Given the description of an element on the screen output the (x, y) to click on. 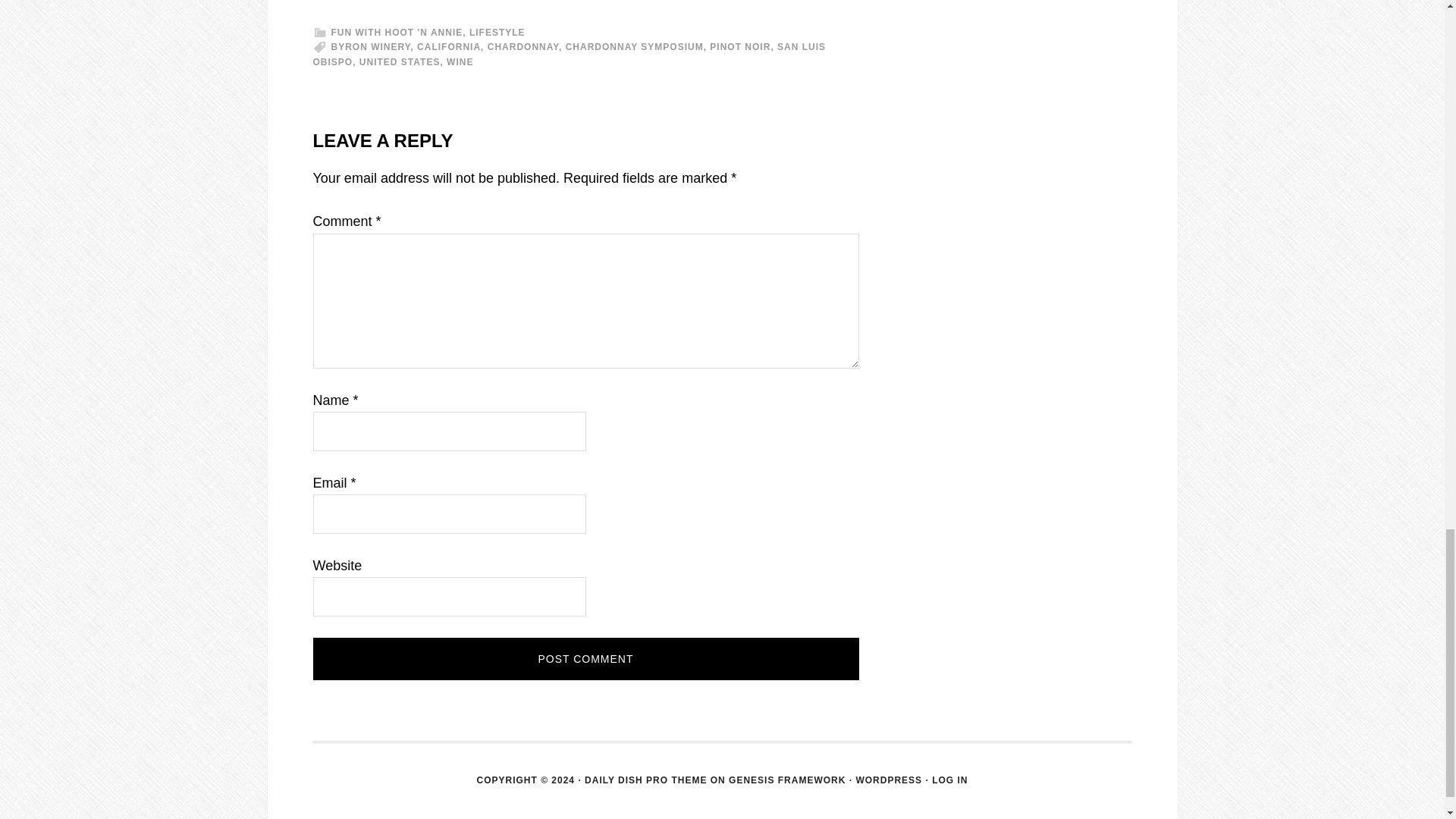
Post Comment (586, 659)
